Given the description of an element on the screen output the (x, y) to click on. 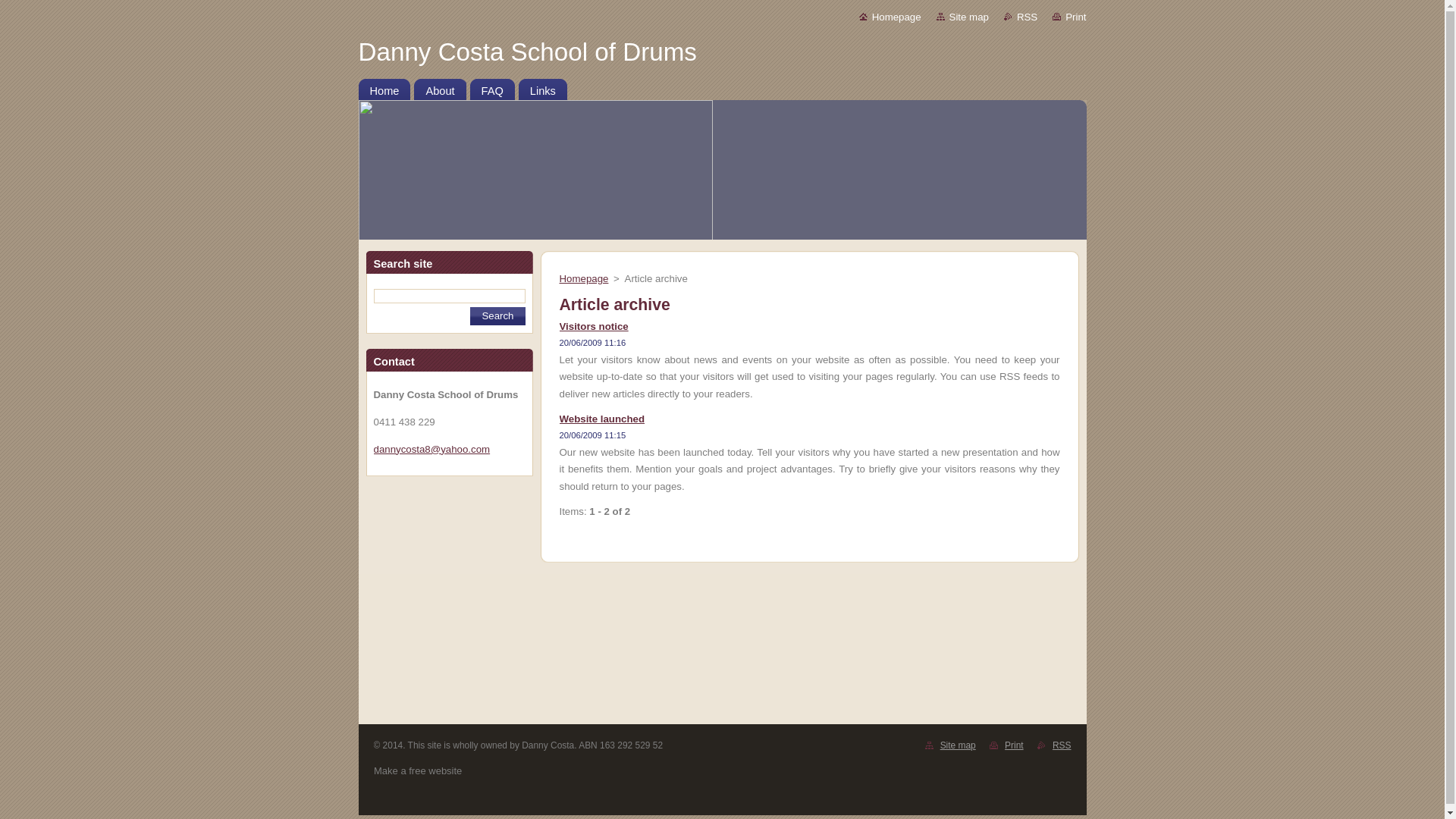
Visitors notice Element type: text (593, 326)
Danny Costa School of Drums Element type: text (721, 51)
Print Element type: text (1068, 16)
Homepage Element type: text (583, 278)
Links Element type: text (542, 87)
RSS Element type: text (1020, 16)
Site map Element type: text (962, 16)
Website launched Element type: text (602, 418)
Search Element type: text (497, 316)
Homepage Element type: text (890, 16)
FAQ Element type: text (492, 87)
RSS Element type: text (1061, 745)
Site map Element type: text (957, 745)
Make a free website Element type: text (417, 770)
dannycosta8@yahoo.com Element type: text (431, 449)
About Element type: text (439, 87)
Home Element type: text (383, 87)
Print Element type: text (1013, 745)
